Given the description of an element on the screen output the (x, y) to click on. 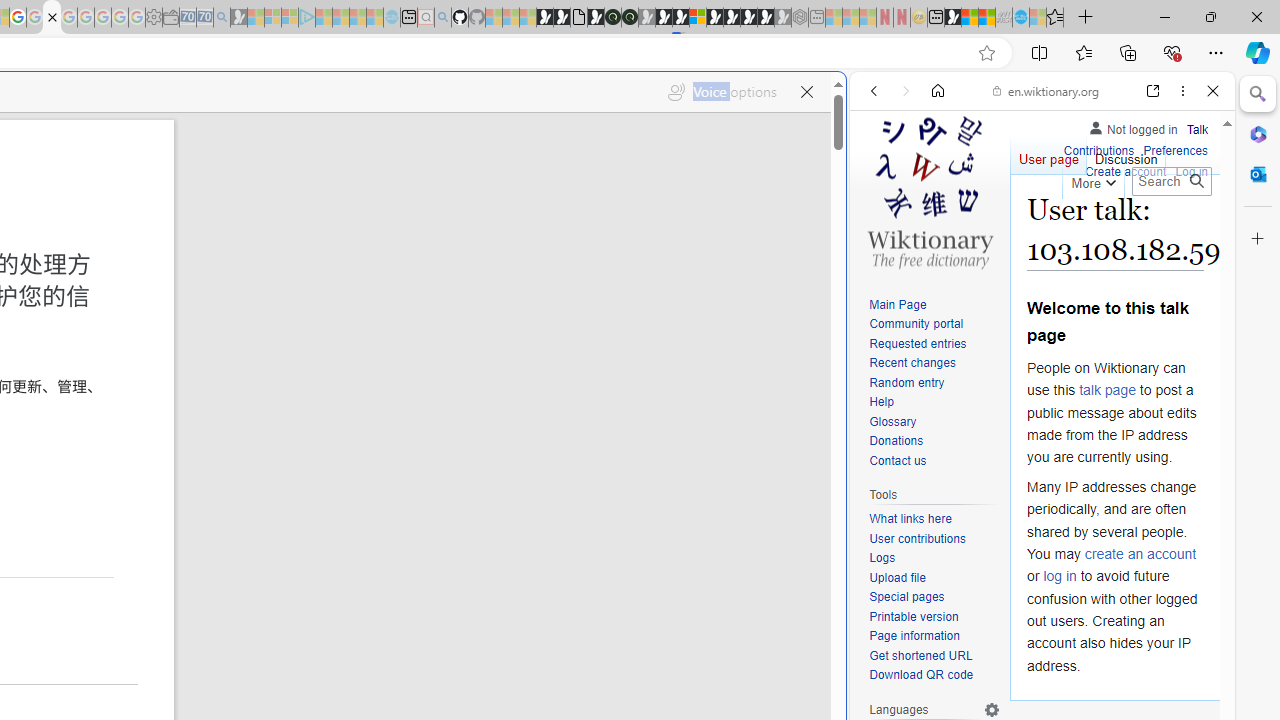
Special pages (906, 596)
Requested entries (934, 344)
More (1092, 179)
Requested entries (917, 343)
Contributions (1098, 151)
Close Customize pane (1258, 239)
Settings - Sleeping (153, 17)
Close read aloud (805, 87)
Main Page (934, 305)
What links here (910, 519)
Web scope (882, 180)
